Given the description of an element on the screen output the (x, y) to click on. 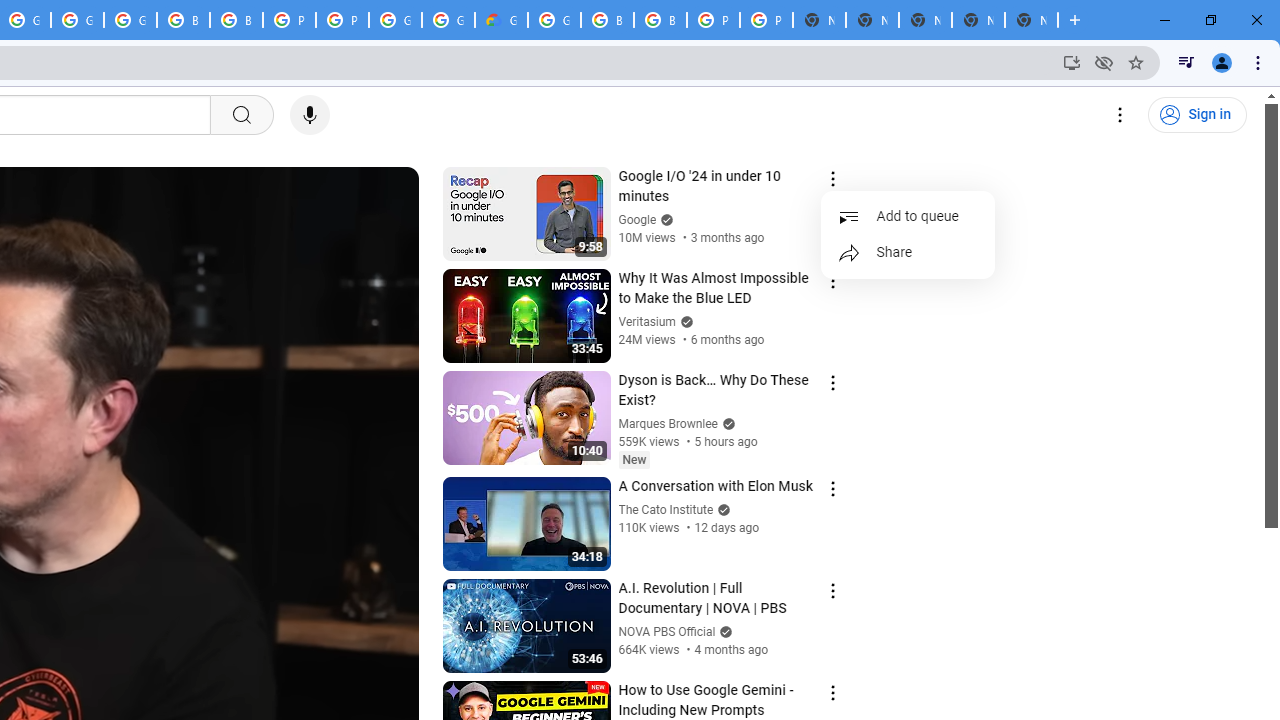
Add to queue (907, 216)
Google Cloud Platform (554, 20)
Google Cloud Platform (448, 20)
Browse Chrome as a guest - Computer - Google Chrome Help (183, 20)
Share (907, 252)
